Given the description of an element on the screen output the (x, y) to click on. 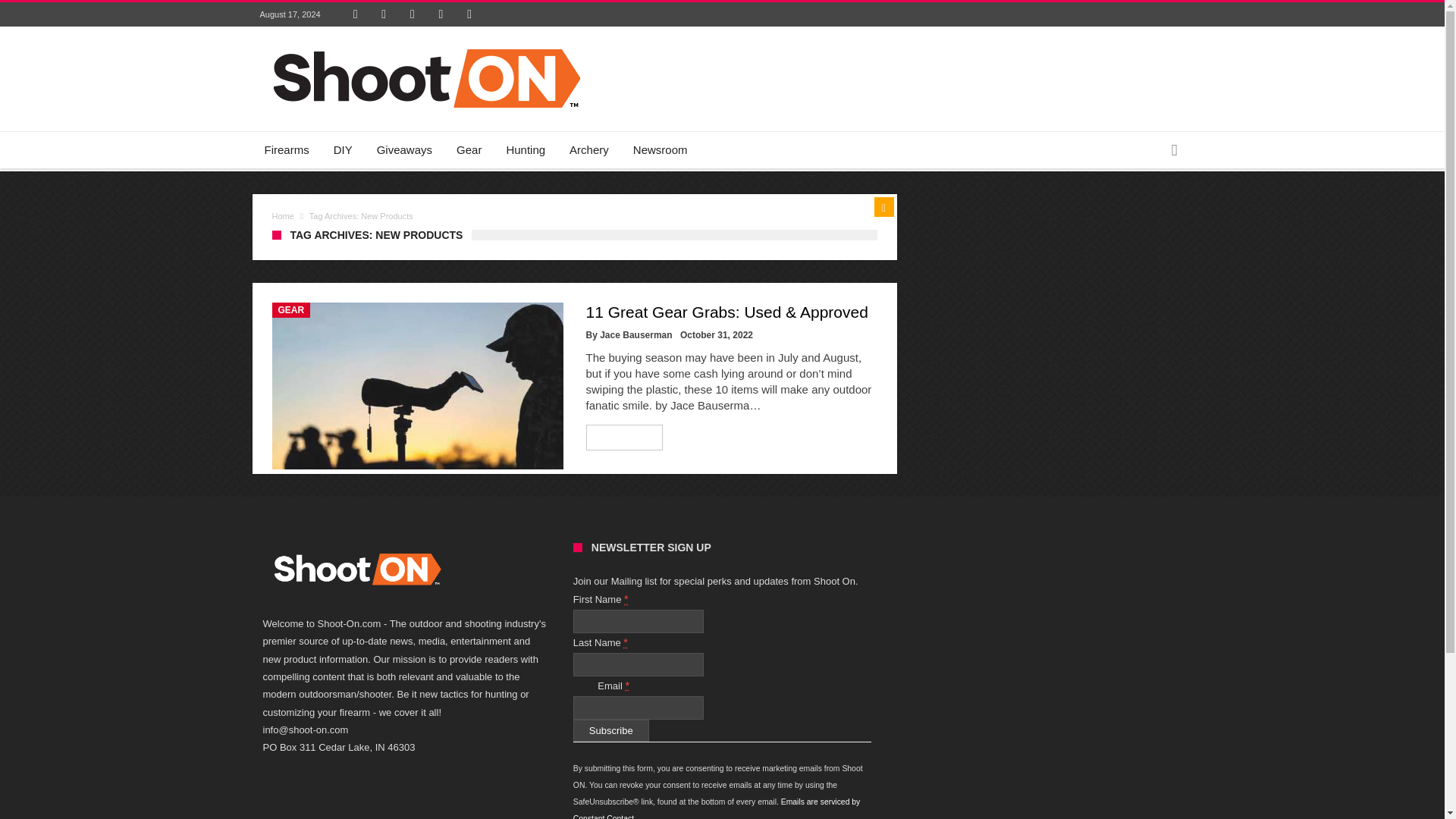
Twitter (383, 14)
Subscribe (611, 730)
Subscribe (611, 730)
Newsroom (660, 149)
Read More (625, 437)
Emails are serviced by Constant Contact (716, 808)
Posts by Jace Bauserman (635, 335)
GEAR (290, 309)
Giveaways (404, 149)
Facebook (355, 14)
